Given the description of an element on the screen output the (x, y) to click on. 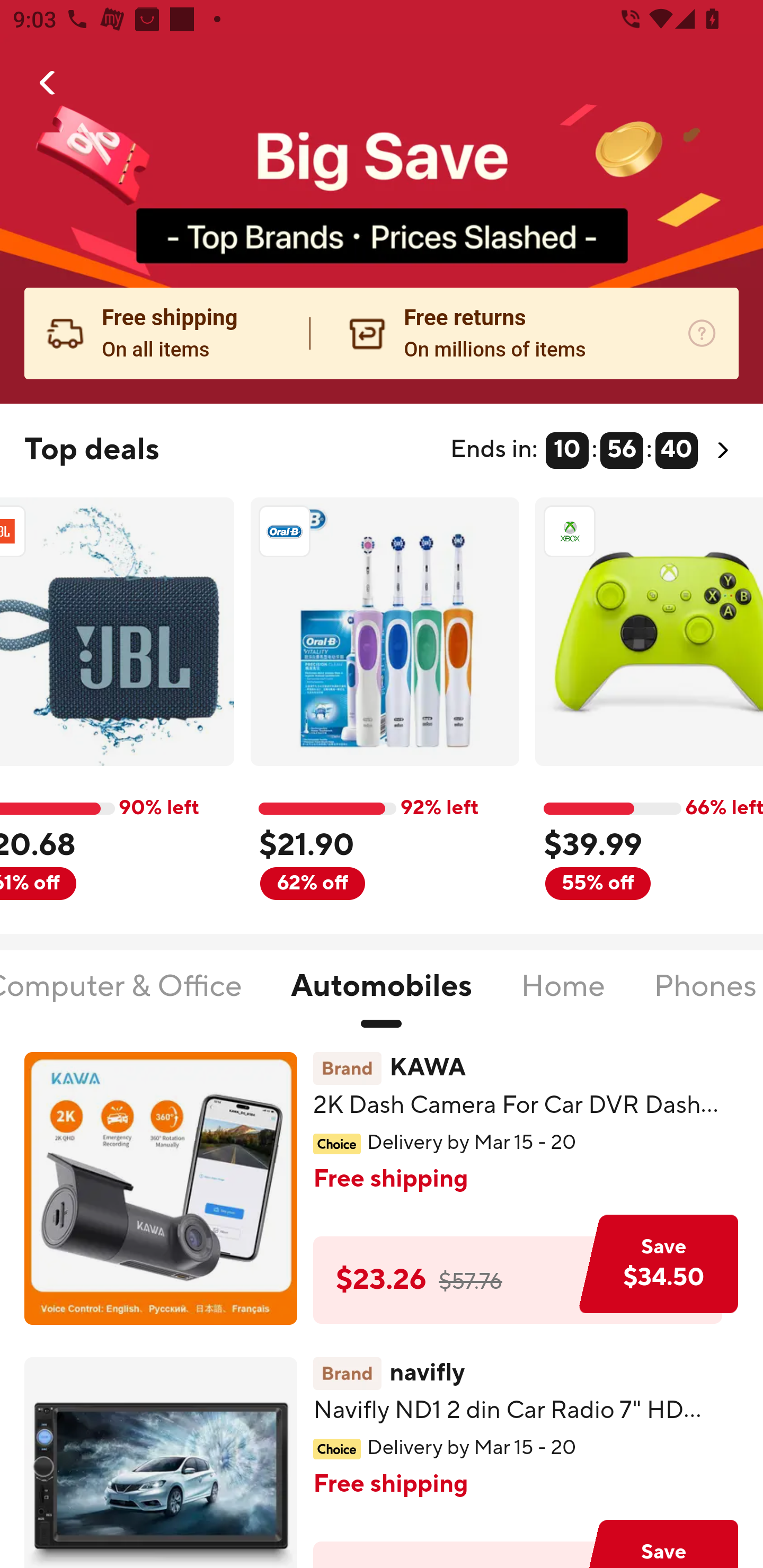
 (48, 82)
Computer & Office (121, 996)
Automobiles (381, 996)
Home (562, 996)
Phones & accessories (708, 996)
